Given the description of an element on the screen output the (x, y) to click on. 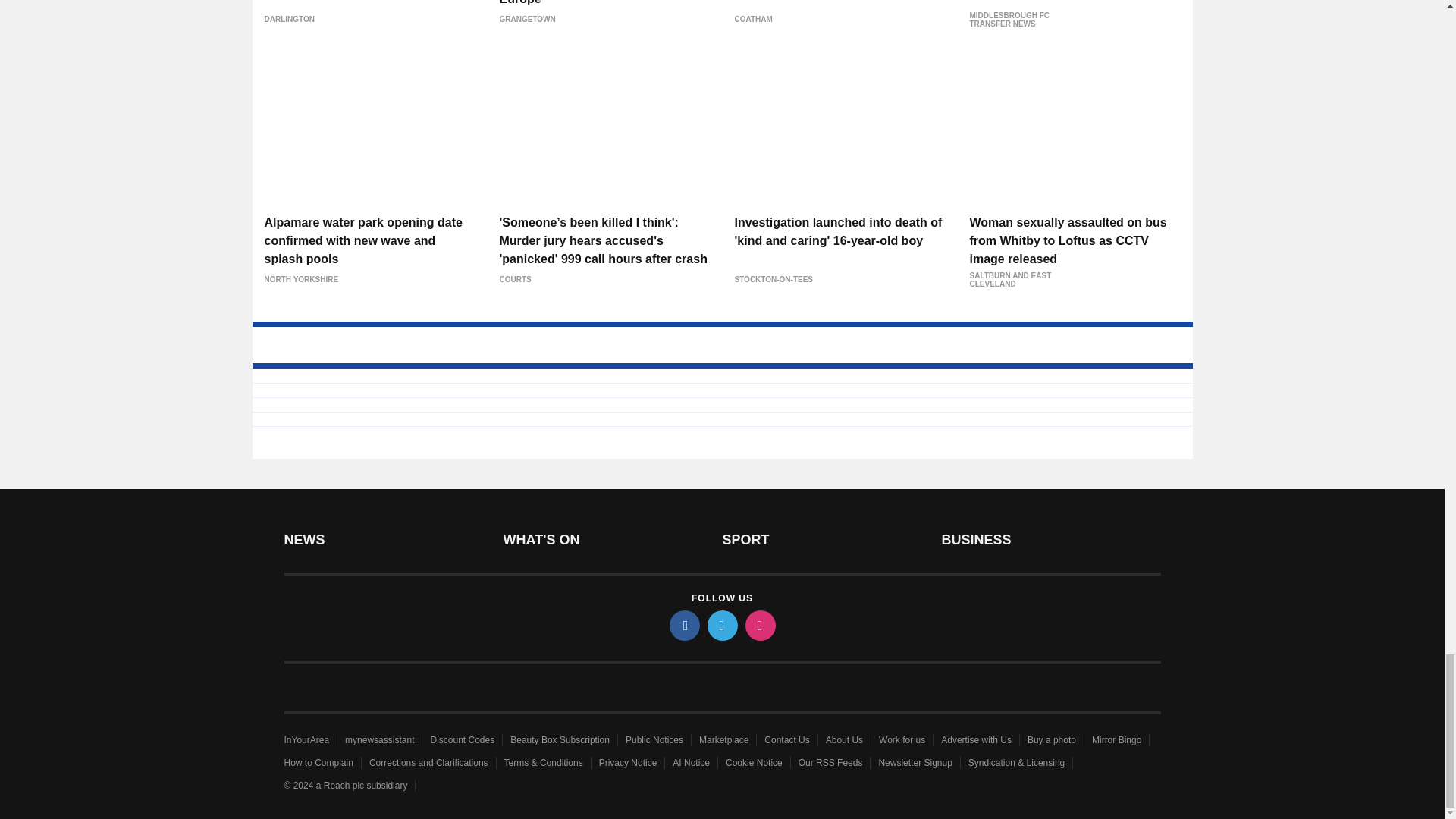
instagram (759, 625)
twitter (721, 625)
facebook (683, 625)
